Given the description of an element on the screen output the (x, y) to click on. 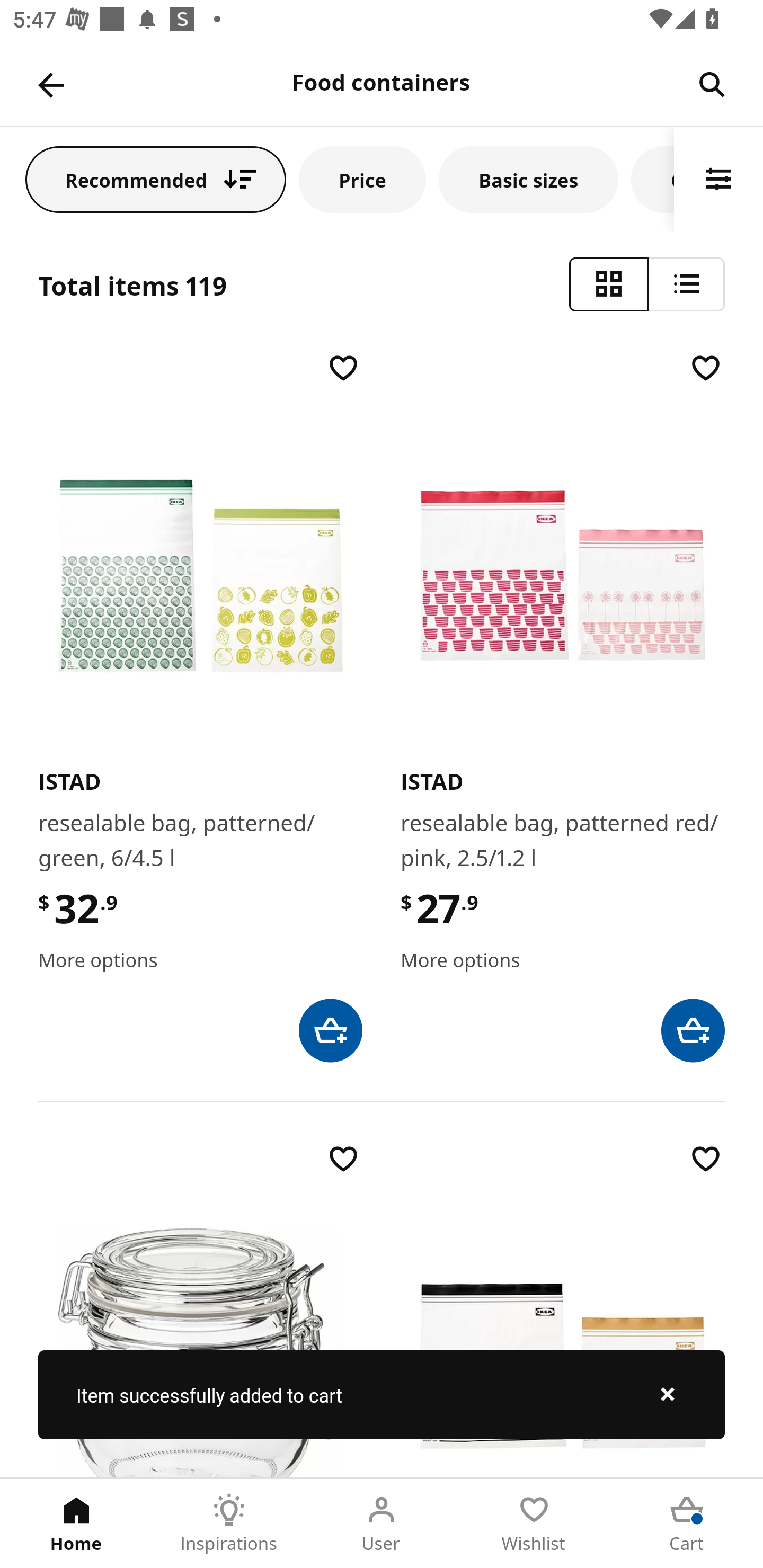
Recommended (155, 179)
Price (362, 179)
Basic sizes (528, 179)
Item successfully added to cart (381, 1394)
Home
Tab 1 of 5 (76, 1522)
Inspirations
Tab 2 of 5 (228, 1522)
User
Tab 3 of 5 (381, 1522)
Wishlist
Tab 4 of 5 (533, 1522)
Cart
Tab 5 of 5 (686, 1522)
